Given the description of an element on the screen output the (x, y) to click on. 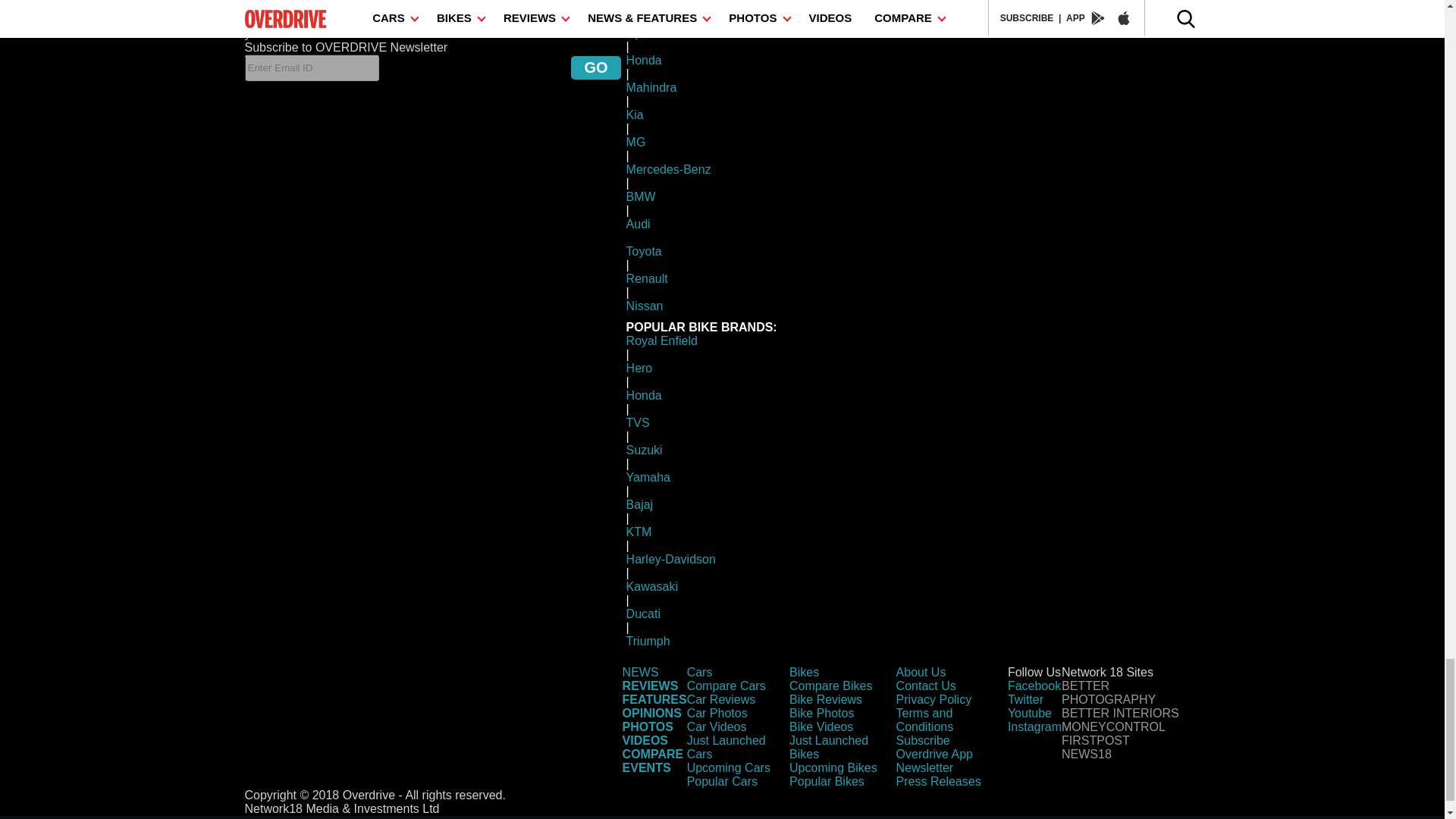
go (595, 66)
go (595, 66)
